Given the description of an element on the screen output the (x, y) to click on. 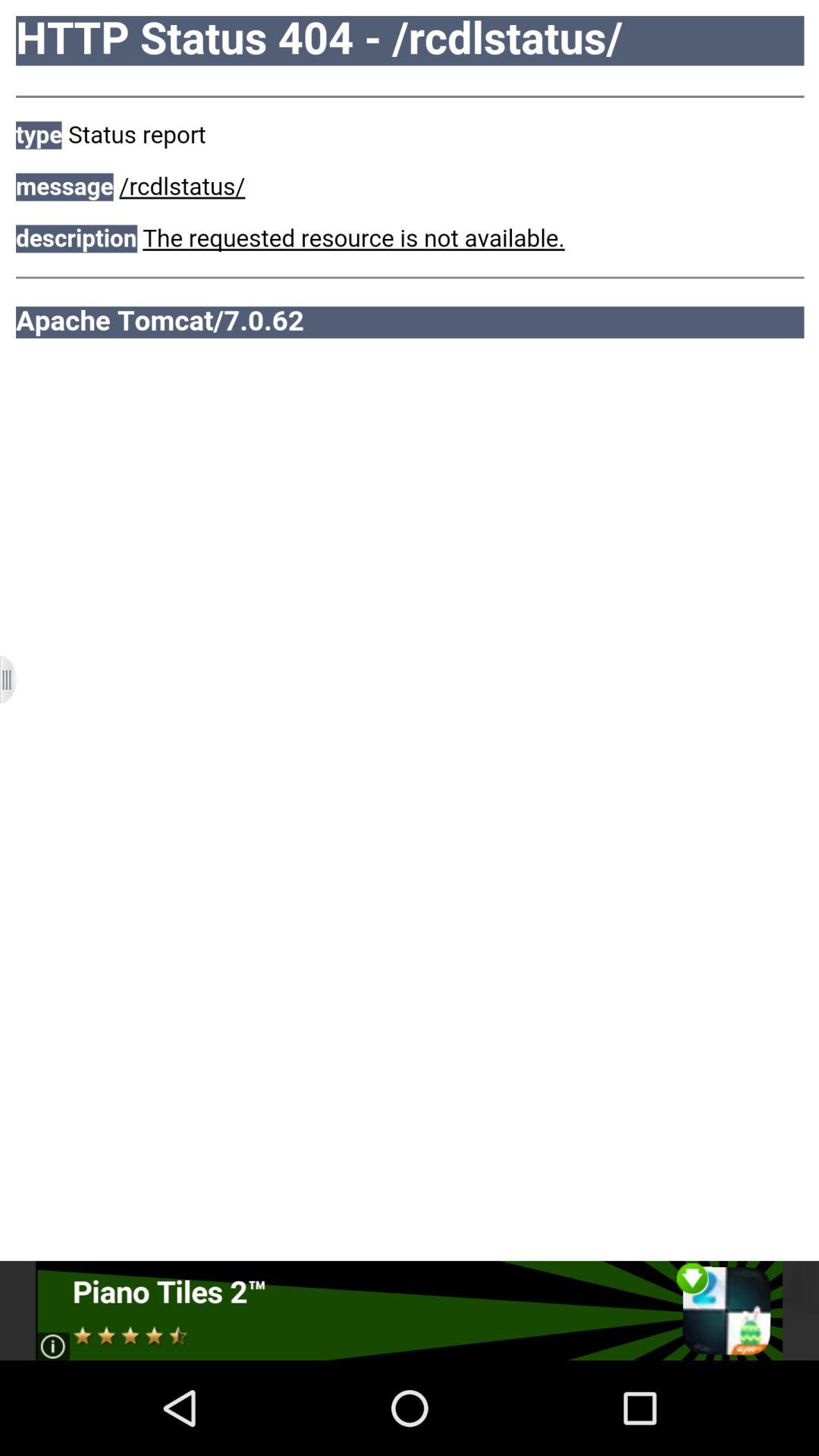
share the article (408, 1310)
